Given the description of an element on the screen output the (x, y) to click on. 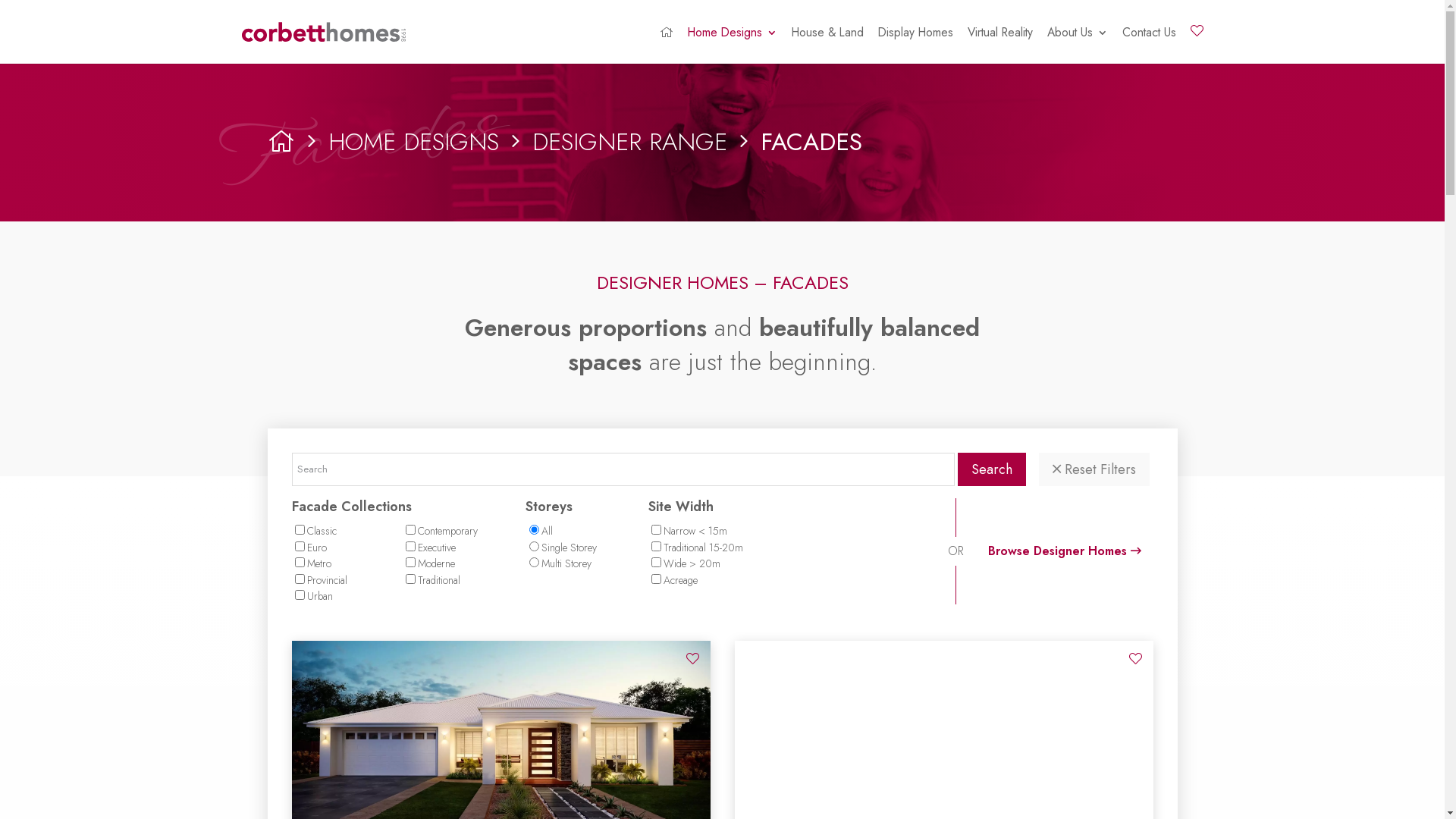
Search Element type: text (991, 469)
Display Homes Element type: text (915, 44)
Go to Corbett Homes. Element type: hover (280, 141)
Reset Filters Element type: text (1093, 469)
Contact Us Element type: text (1149, 44)
About Us Element type: text (1076, 44)
Browse Designer Homes Element type: text (1063, 550)
Home Designs Element type: text (731, 44)
Virtual Reality Element type: text (999, 44)
HOME DESIGNS Element type: text (412, 141)
DESIGNER RANGE Element type: text (629, 141)
House & Land Element type: text (827, 44)
